Given the description of an element on the screen output the (x, y) to click on. 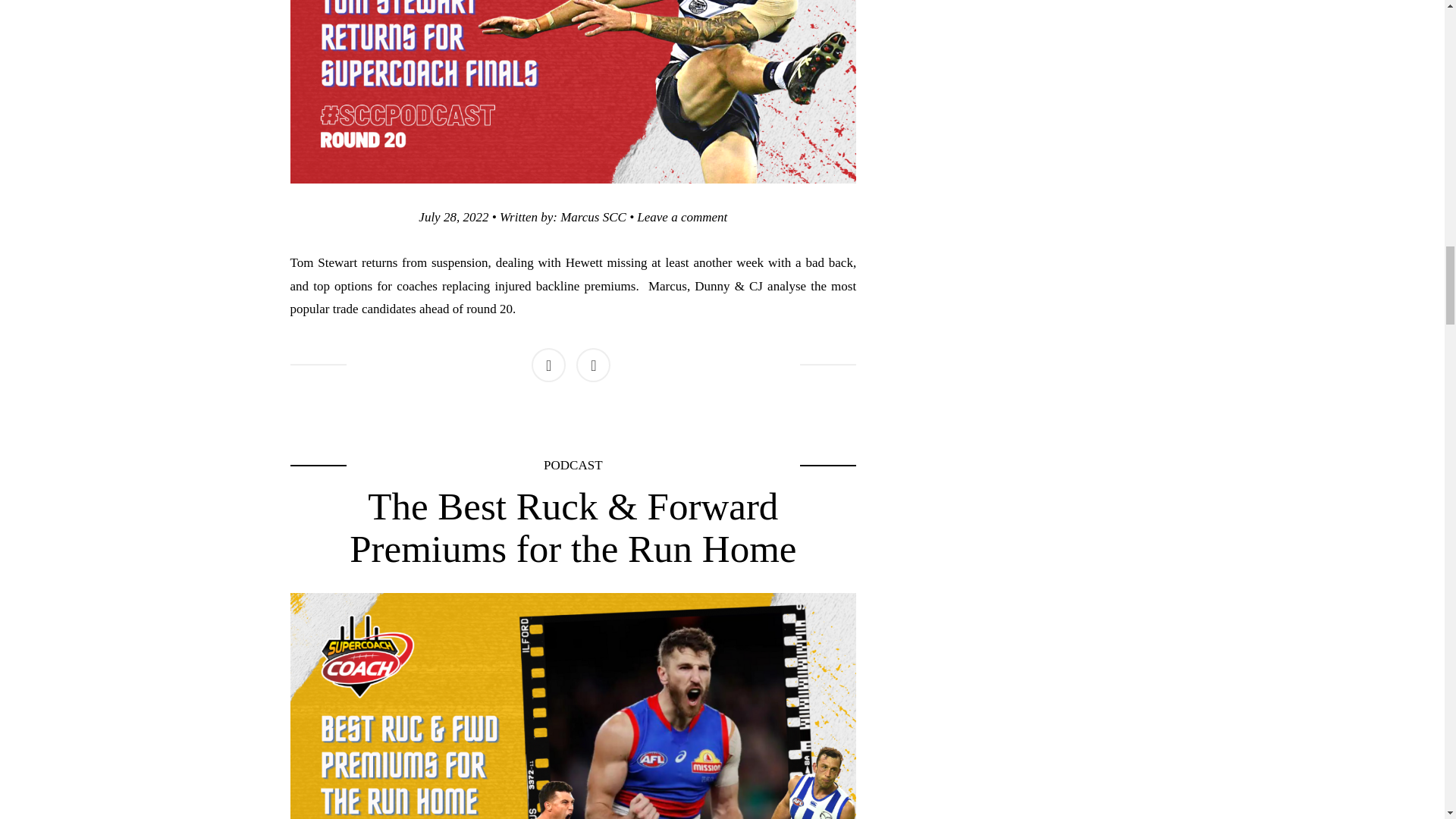
Share on Twitter (593, 365)
PODCAST (572, 464)
Written by: Marcus SCC (562, 216)
Share on Facebook (453, 216)
Leave a comment (548, 365)
